Given the description of an element on the screen output the (x, y) to click on. 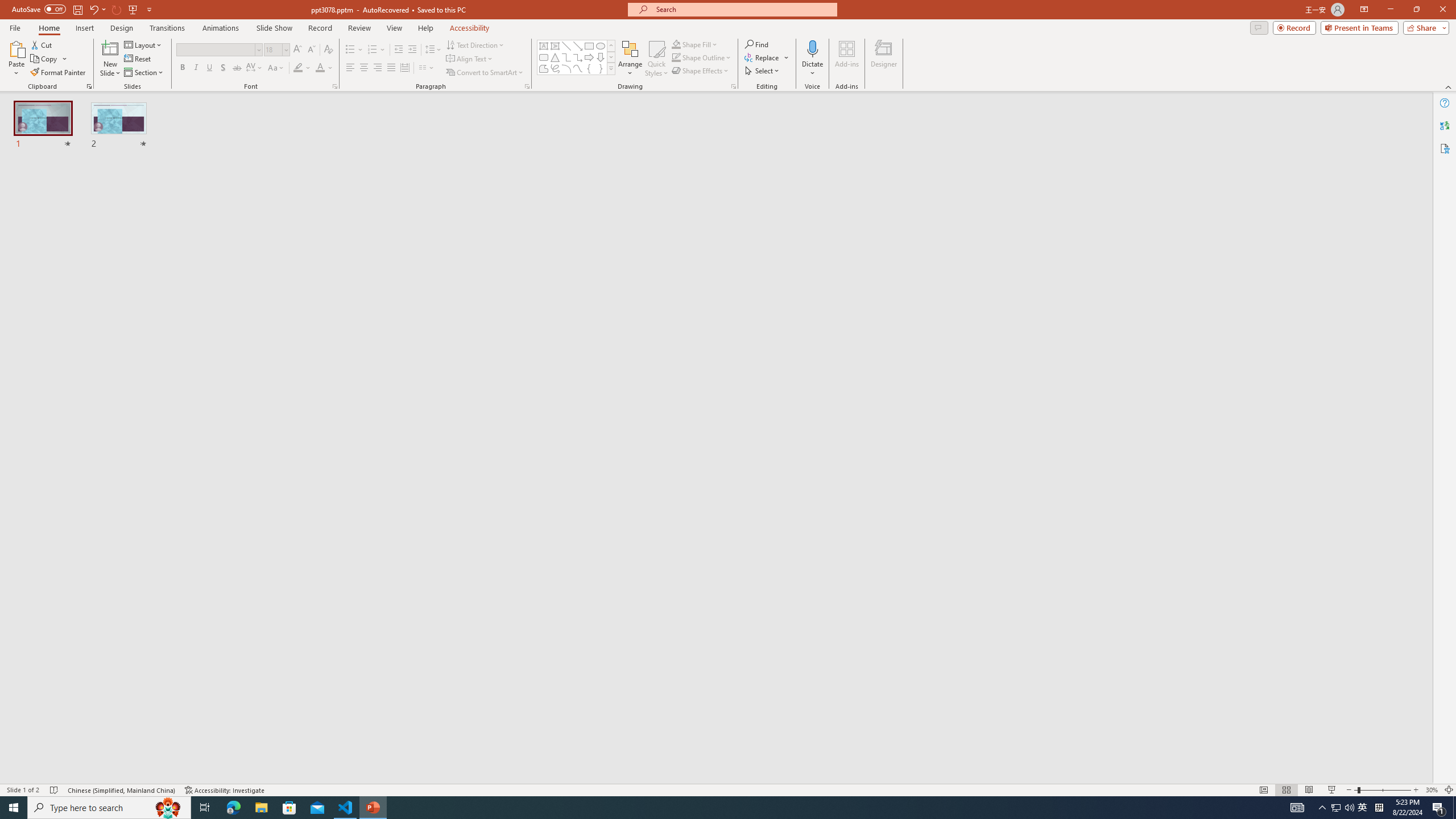
Shape Fill Dark Green, Accent 2 (675, 44)
